Given the description of an element on the screen output the (x, y) to click on. 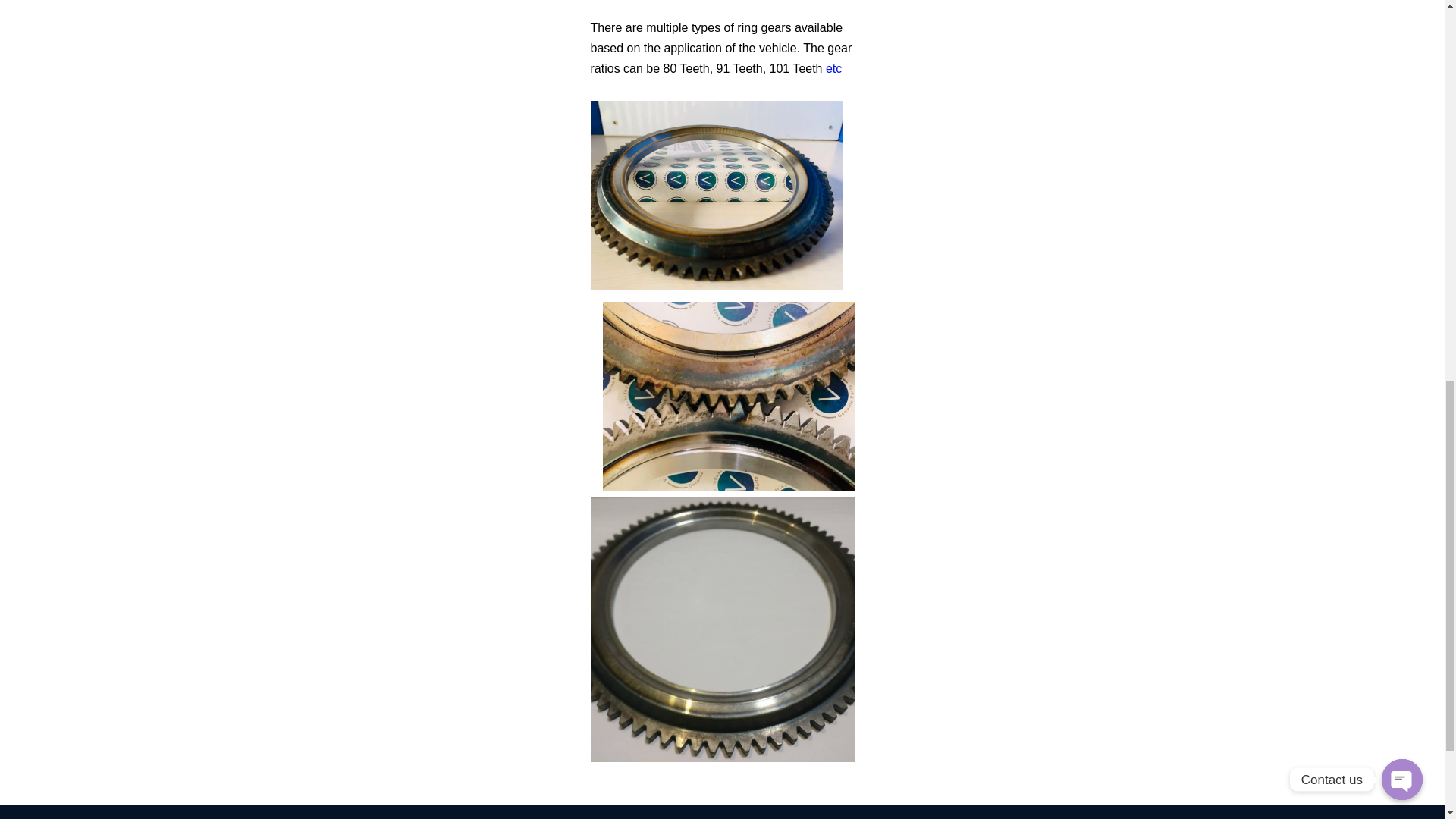
Copyright (554, 818)
etc (833, 68)
